Given the description of an element on the screen output the (x, y) to click on. 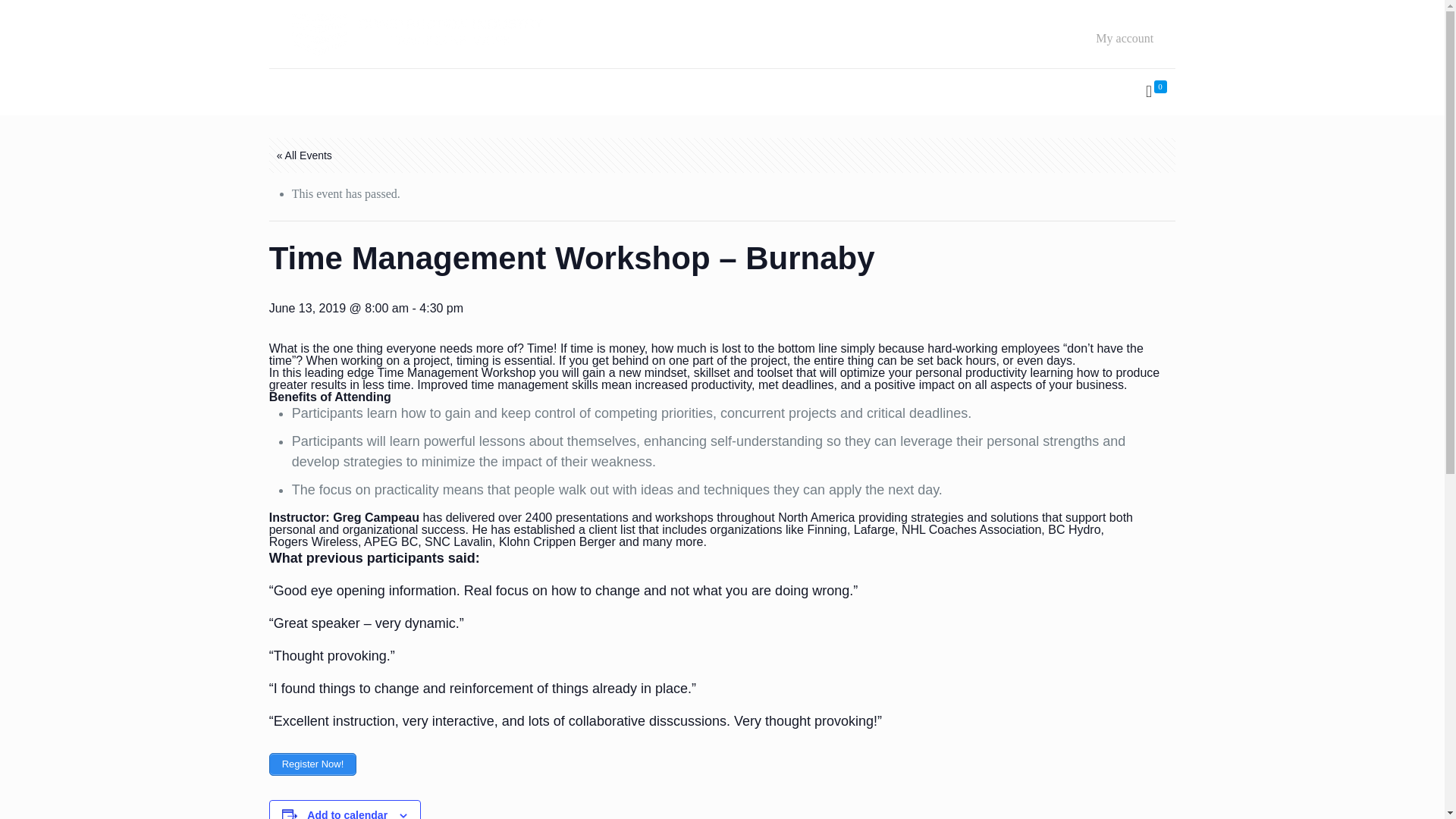
My account (1124, 38)
Register Now! (312, 763)
Home (300, 91)
Services (620, 91)
Add to calendar (347, 814)
About Us (373, 91)
Register Now! (312, 763)
Training (448, 91)
Contact Us (702, 91)
0 (1155, 91)
